Given the description of an element on the screen output the (x, y) to click on. 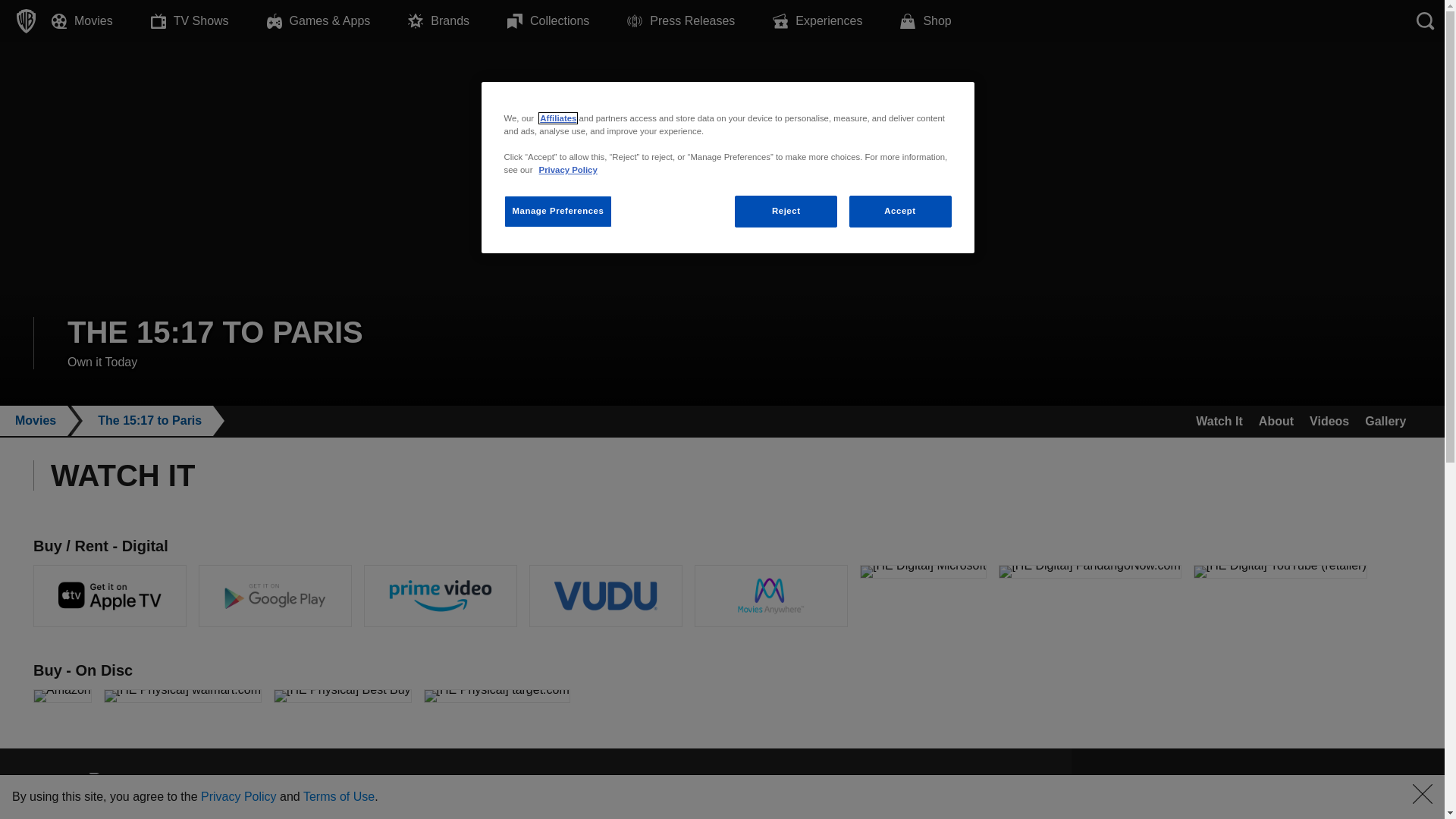
Affiliates Element type: text (557, 117)
Brands Element type: text (457, 20)
Shop Element type: text (944, 20)
Videos Element type: text (1329, 420)
Reject Element type: text (785, 211)
Press Releases Element type: text (699, 20)
TV Shows Element type: text (208, 20)
About Element type: text (1275, 420)
Privacy Policy Element type: text (238, 796)
Manage Preferences Element type: text (557, 211)
Terms of Use Element type: text (338, 796)
Privacy Policy Element type: text (568, 169)
Games & Apps Element type: text (337, 20)
Accept Element type: text (900, 211)
Watch It Element type: text (1219, 420)
Collections Element type: text (567, 20)
Experiences Element type: text (836, 20)
Movies Element type: text (100, 20)
Movies Element type: text (41, 420)
Gallery Element type: text (1385, 420)
The 15:17 to Paris Element type: text (155, 420)
